Given the description of an element on the screen output the (x, y) to click on. 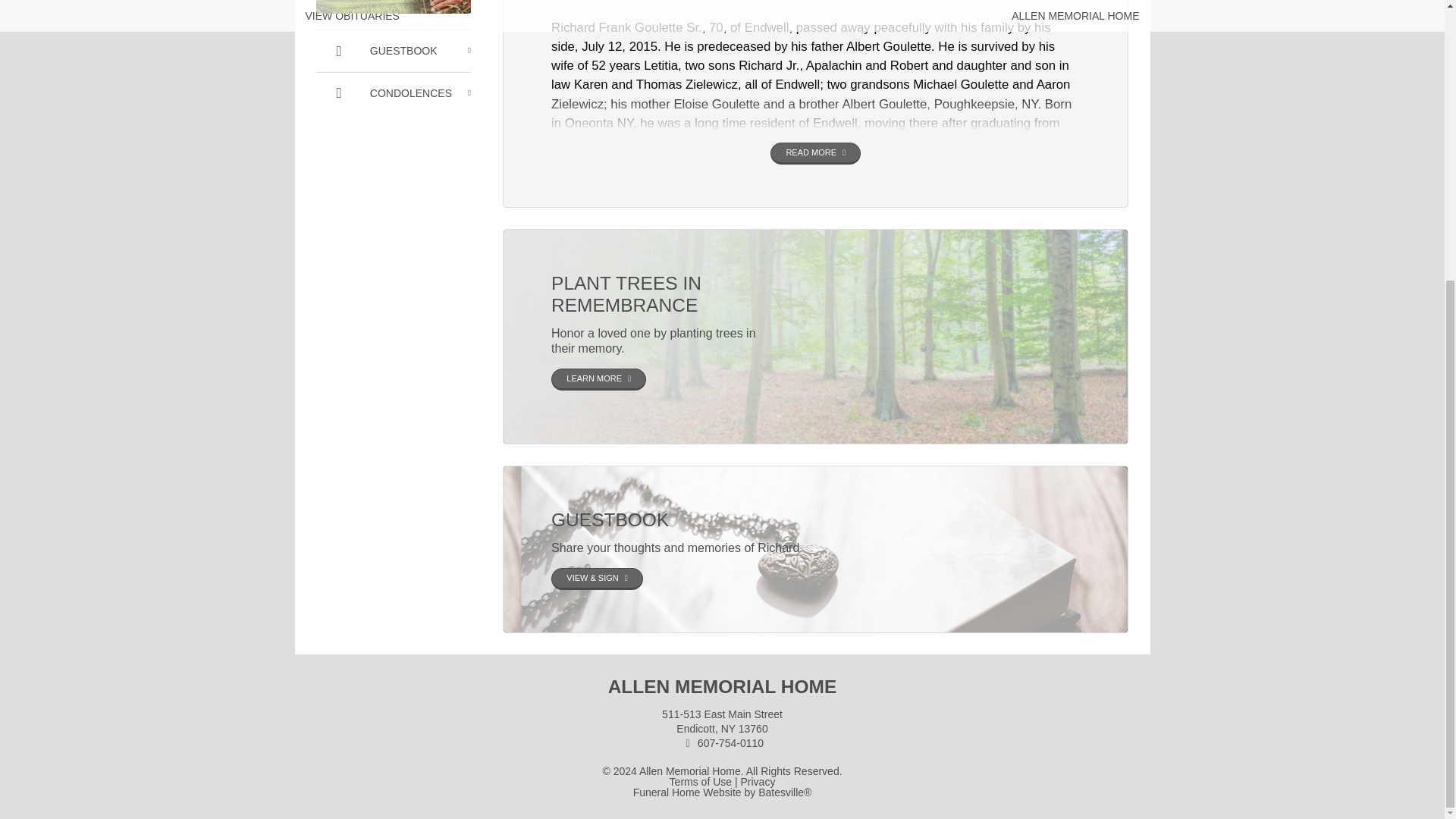
Terms of Use (700, 781)
LEARN MORE (392, 6)
CONDOLENCES (598, 379)
Plant Trees (392, 93)
Allen Memorial Home (392, 6)
ALLEN MEMORIAL HOME (690, 770)
GUESTBOOK (722, 697)
Privacy (392, 50)
